Given the description of an element on the screen output the (x, y) to click on. 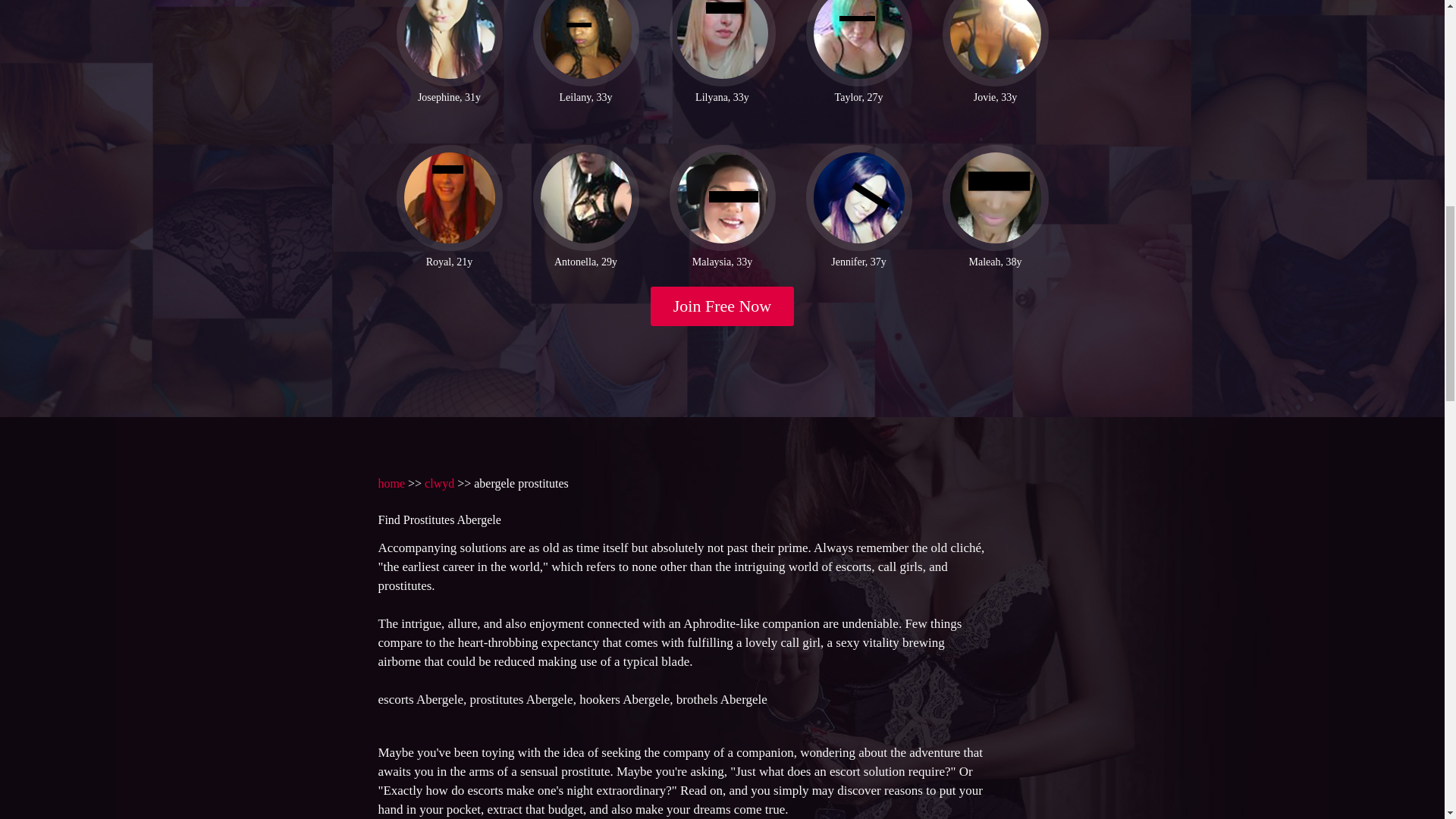
Join (722, 305)
Join Free Now (722, 305)
clwyd (439, 482)
home (390, 482)
